Given the description of an element on the screen output the (x, y) to click on. 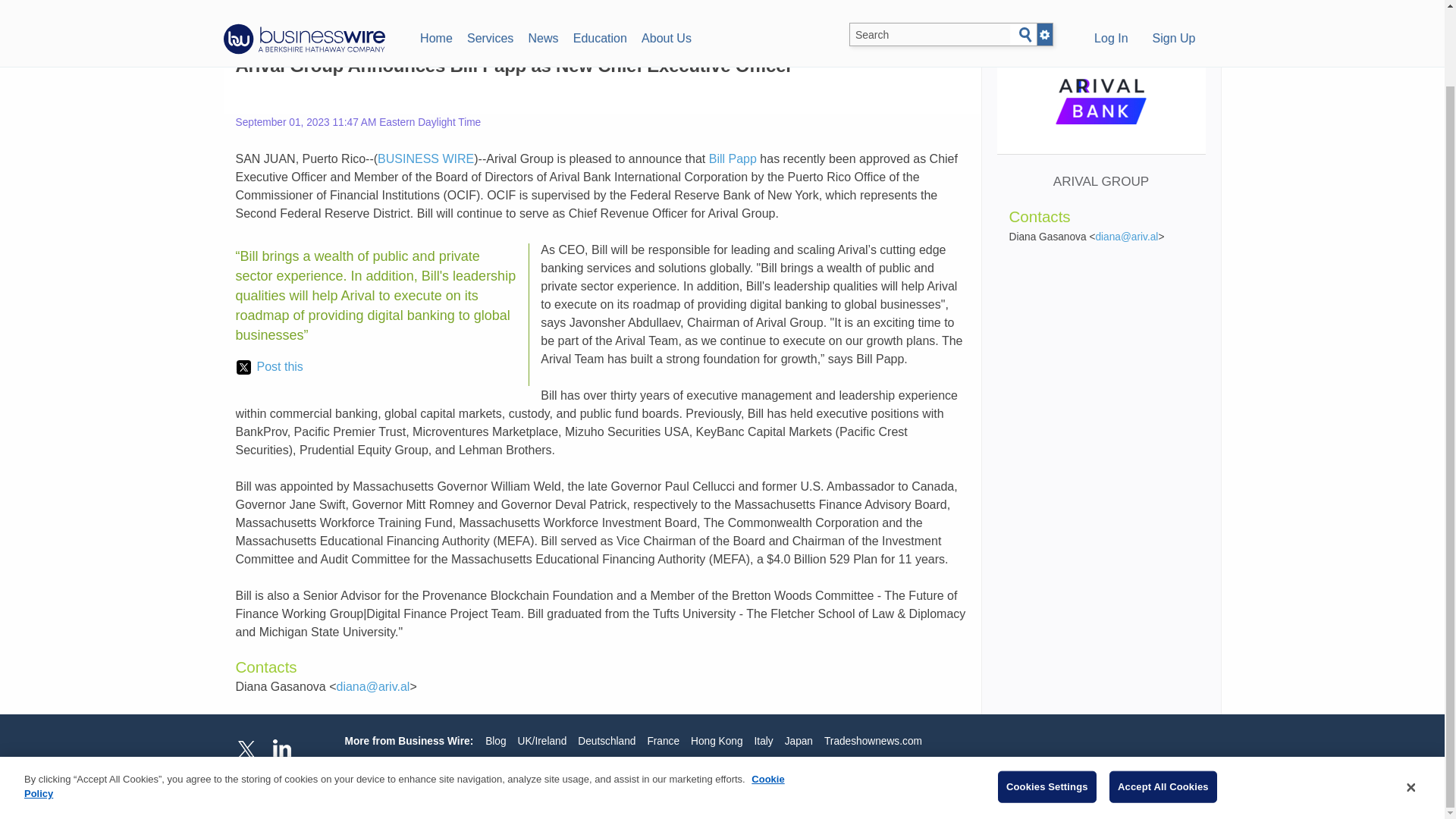
BUSINESS WIRE (425, 158)
Bill Papp (733, 158)
Post this (269, 366)
